Given the description of an element on the screen output the (x, y) to click on. 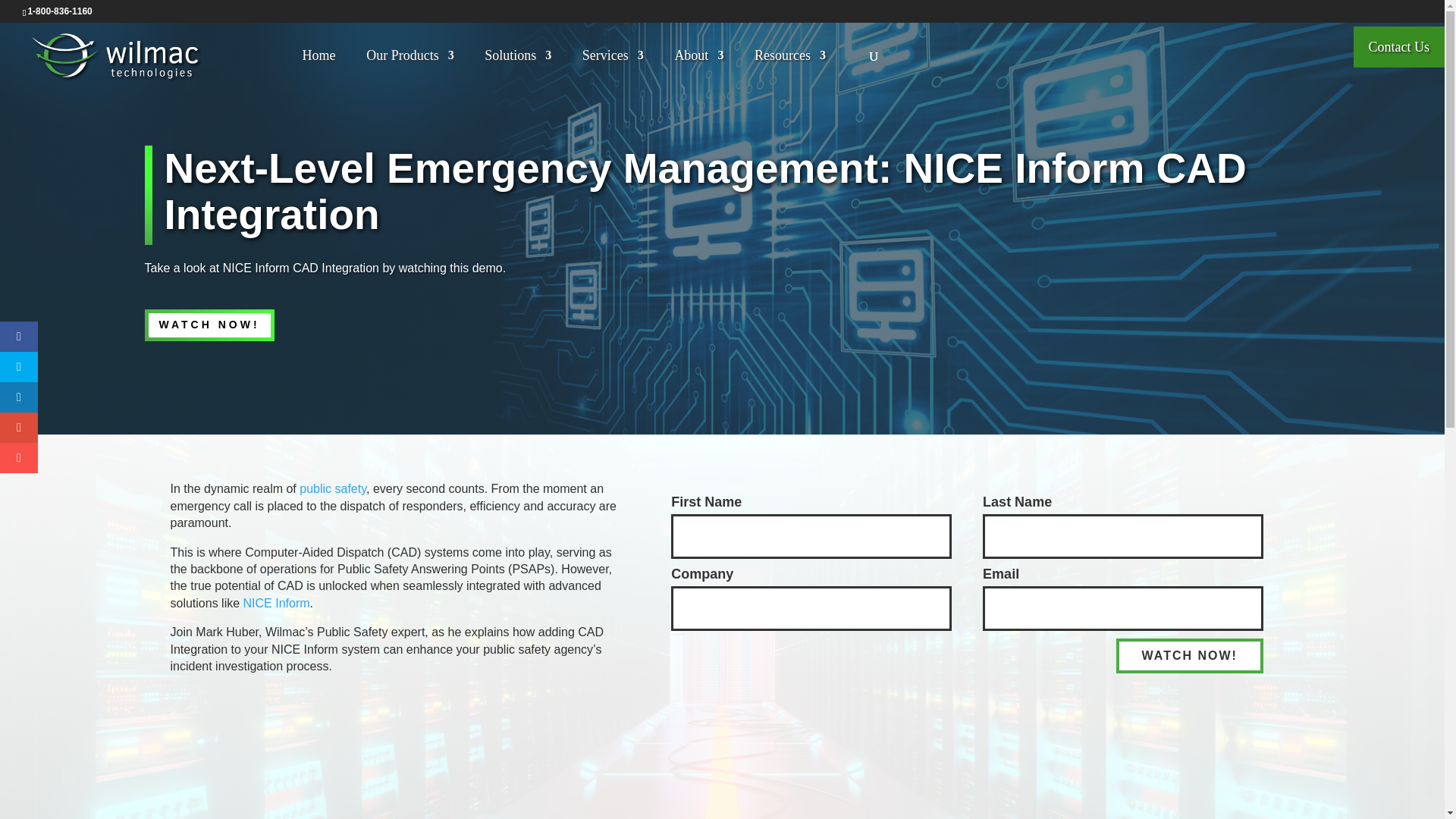
Solutions (517, 67)
Resources (789, 67)
Services (612, 67)
Our Products (410, 67)
Home (319, 67)
About (698, 67)
